Given the description of an element on the screen output the (x, y) to click on. 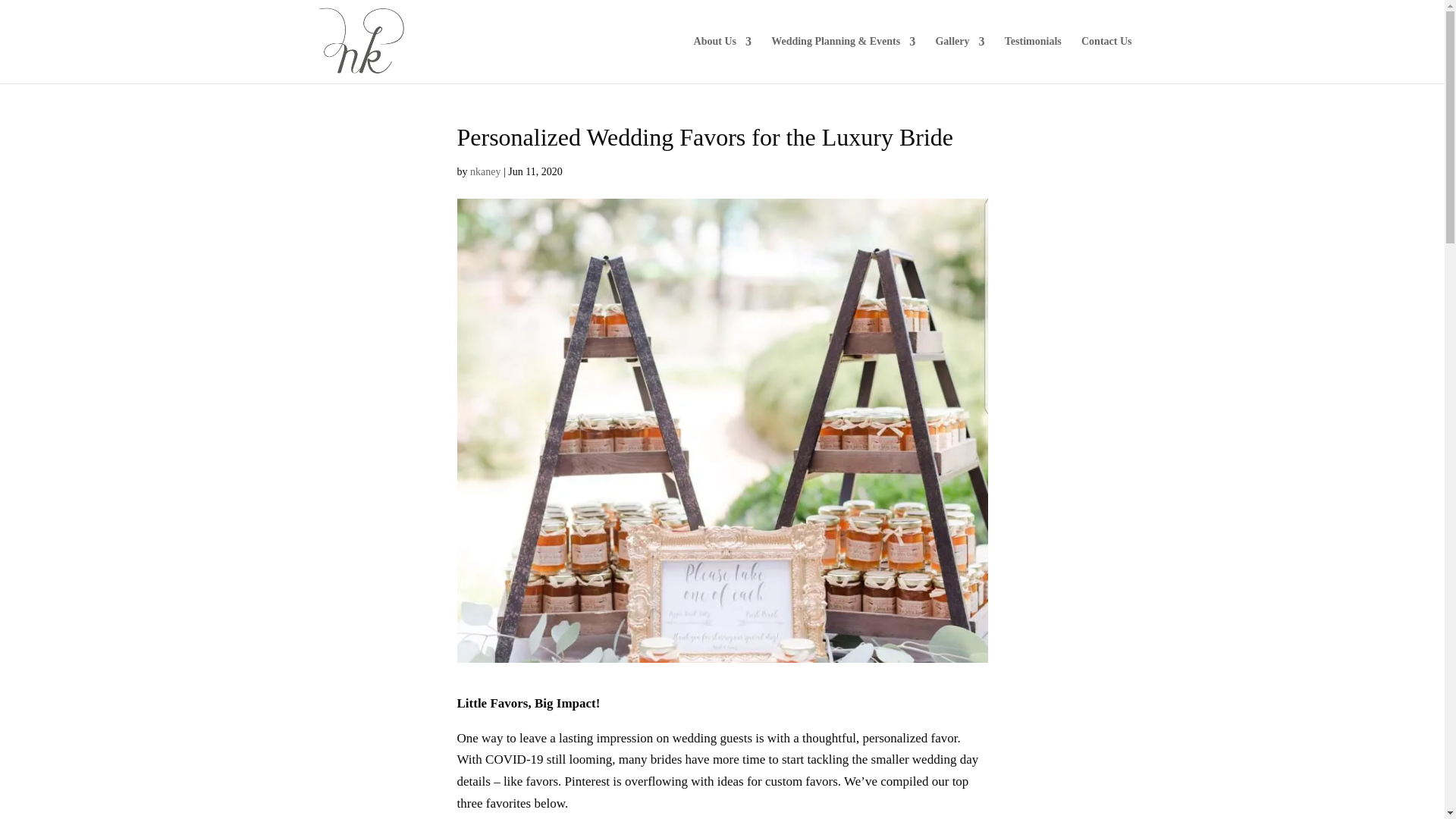
nkaney (485, 171)
Contact Us (1106, 59)
Gallery (959, 59)
Testimonials (1032, 59)
Posts by nkaney (485, 171)
About Us (722, 59)
